Given the description of an element on the screen output the (x, y) to click on. 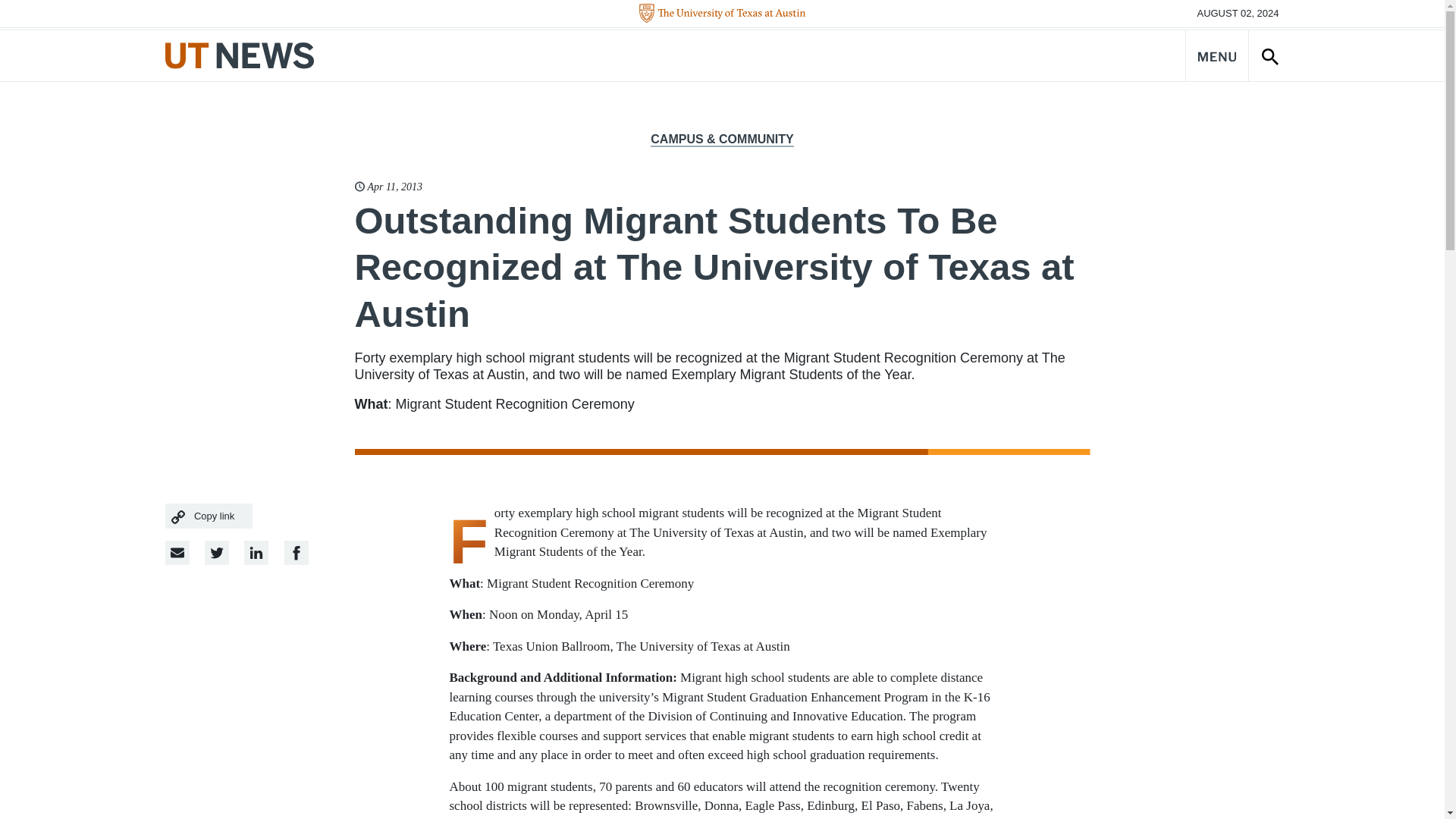
Email Share Link (177, 552)
UT News (239, 55)
Navigation (1216, 55)
The University of Texas at Austin (722, 13)
Facebook Share Link (255, 552)
Twitter Share Link (216, 552)
LinkedIn Share Link (295, 552)
Copy link (209, 515)
